Given the description of an element on the screen output the (x, y) to click on. 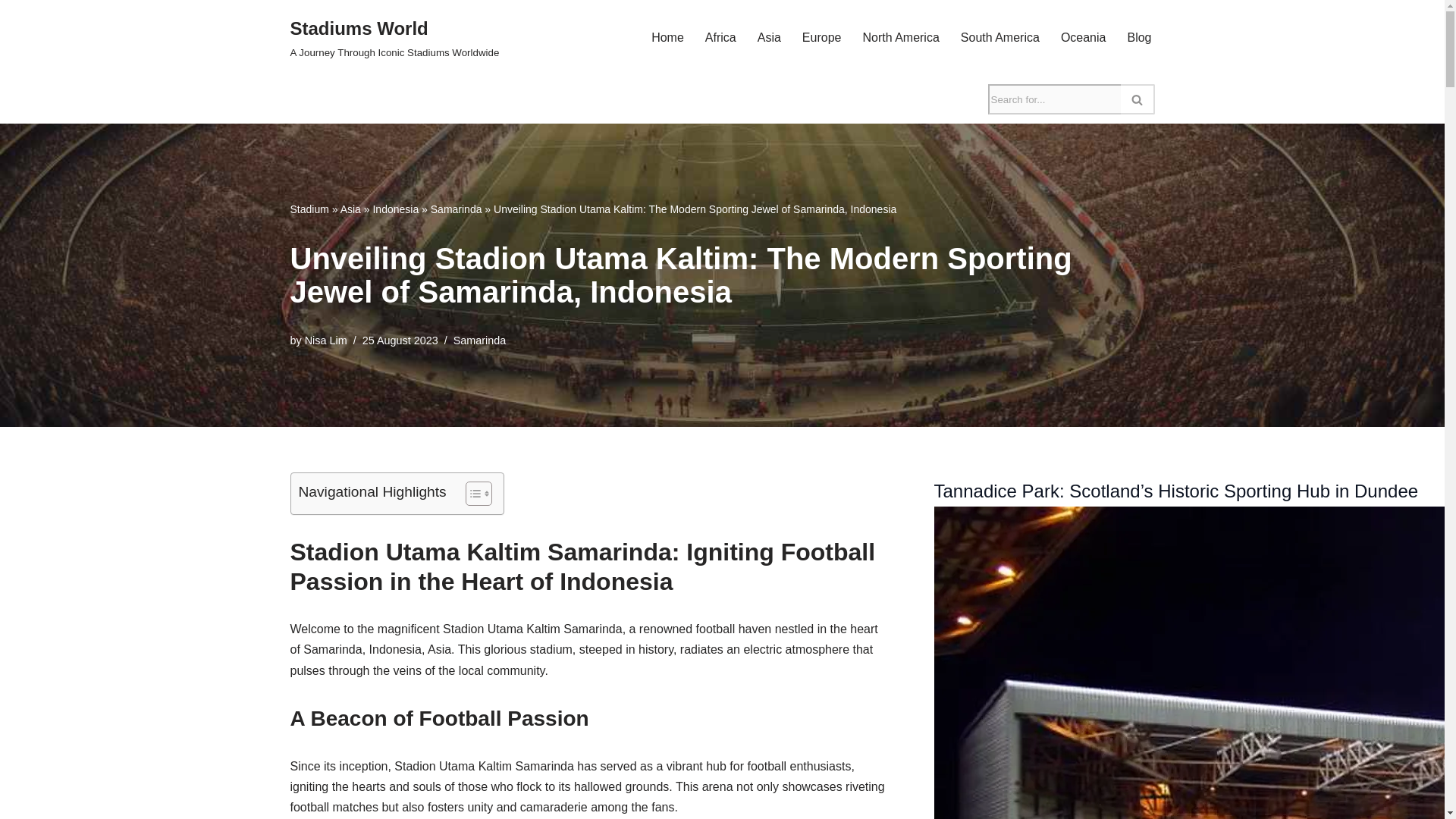
Home (667, 37)
Indonesia (395, 209)
Africa (720, 37)
Samarinda (455, 209)
Blog (1138, 37)
Asia (768, 37)
South America (999, 37)
Nisa Lim (325, 340)
Asia (350, 209)
Skip to content (11, 31)
North America (900, 37)
Samarinda (479, 340)
Stadium (394, 37)
Europe (309, 209)
